Given the description of an element on the screen output the (x, y) to click on. 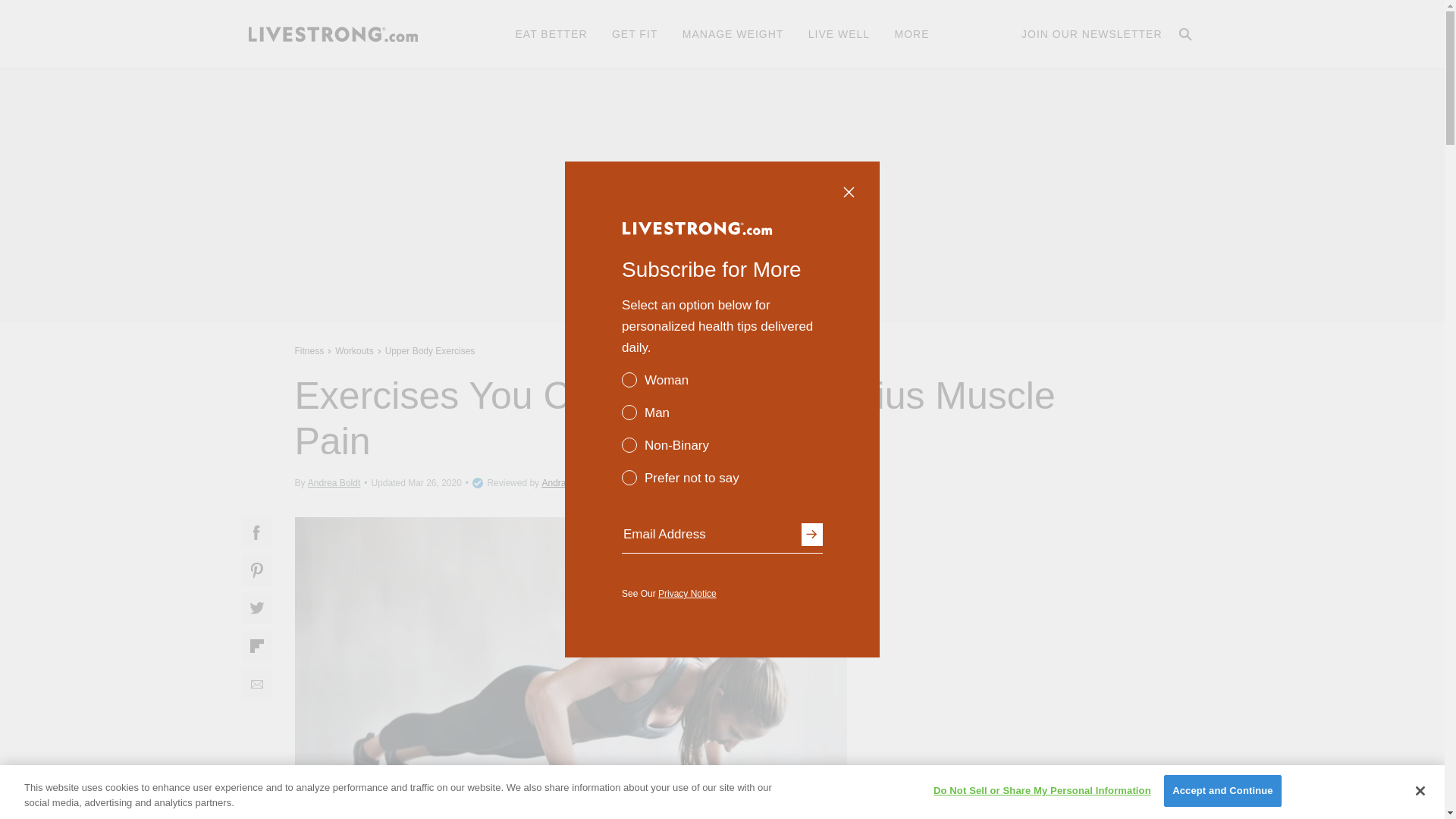
Workouts (354, 350)
GET FIT (634, 33)
MANAGE WEIGHT (733, 33)
3rd party ad content (1035, 611)
Andrea Boldt (333, 482)
Fitness (310, 350)
Upper Body Exercises (430, 350)
EAT BETTER (551, 33)
LIVE WELL (838, 33)
JOIN OUR NEWSLETTER (1091, 33)
3rd party ad content (721, 194)
Andra Picincu, CN, CPT (590, 482)
